Given the description of an element on the screen output the (x, y) to click on. 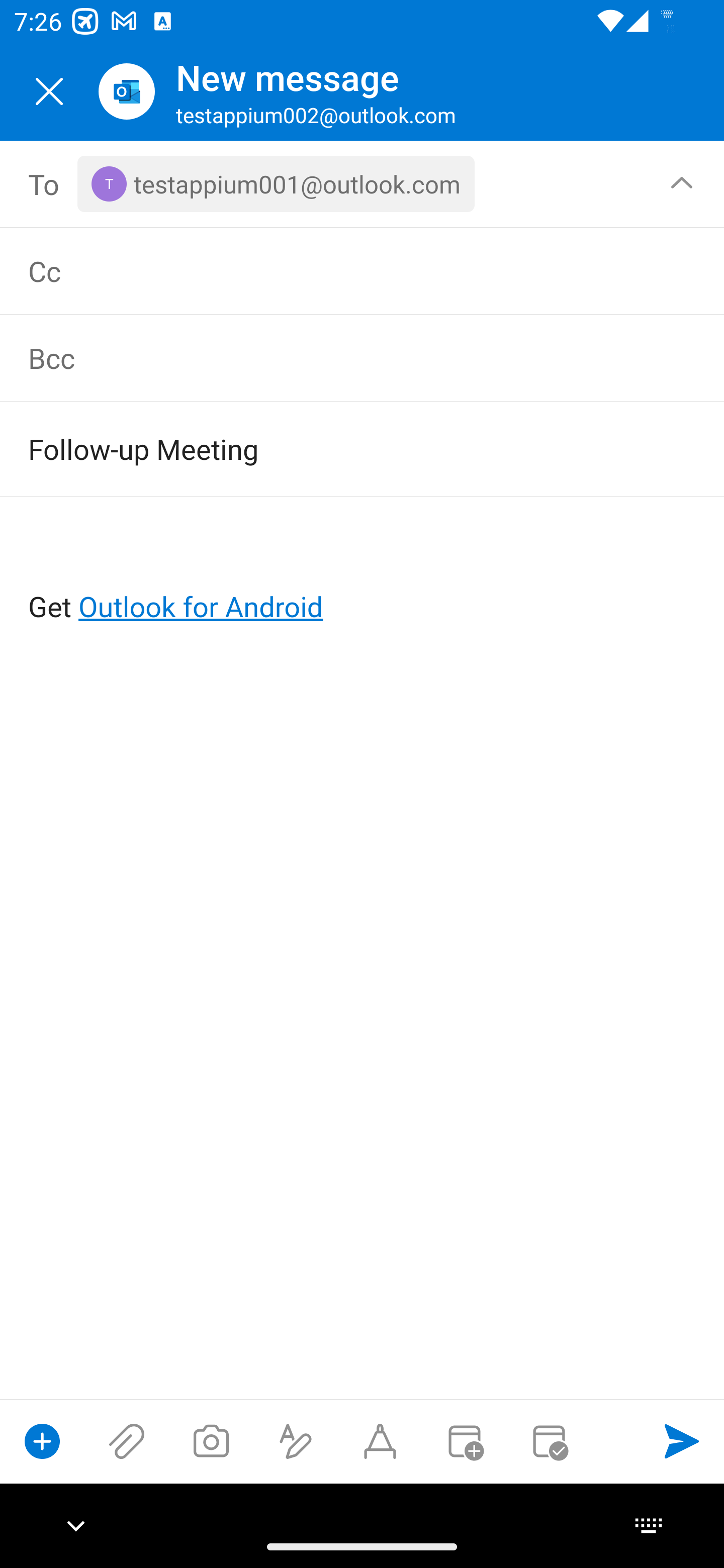
Close (49, 91)
To, 1 recipient <testappium001@outlook.com> (362, 184)
Follow-up Meeting (333, 448)


Get Outlook for Android (363, 573)
Show compose options (42, 1440)
Attach files (126, 1440)
Take a photo (210, 1440)
Show formatting options (295, 1440)
Start Ink compose (380, 1440)
Convert to event (464, 1440)
Send availability (548, 1440)
Send (681, 1440)
